Given the description of an element on the screen output the (x, y) to click on. 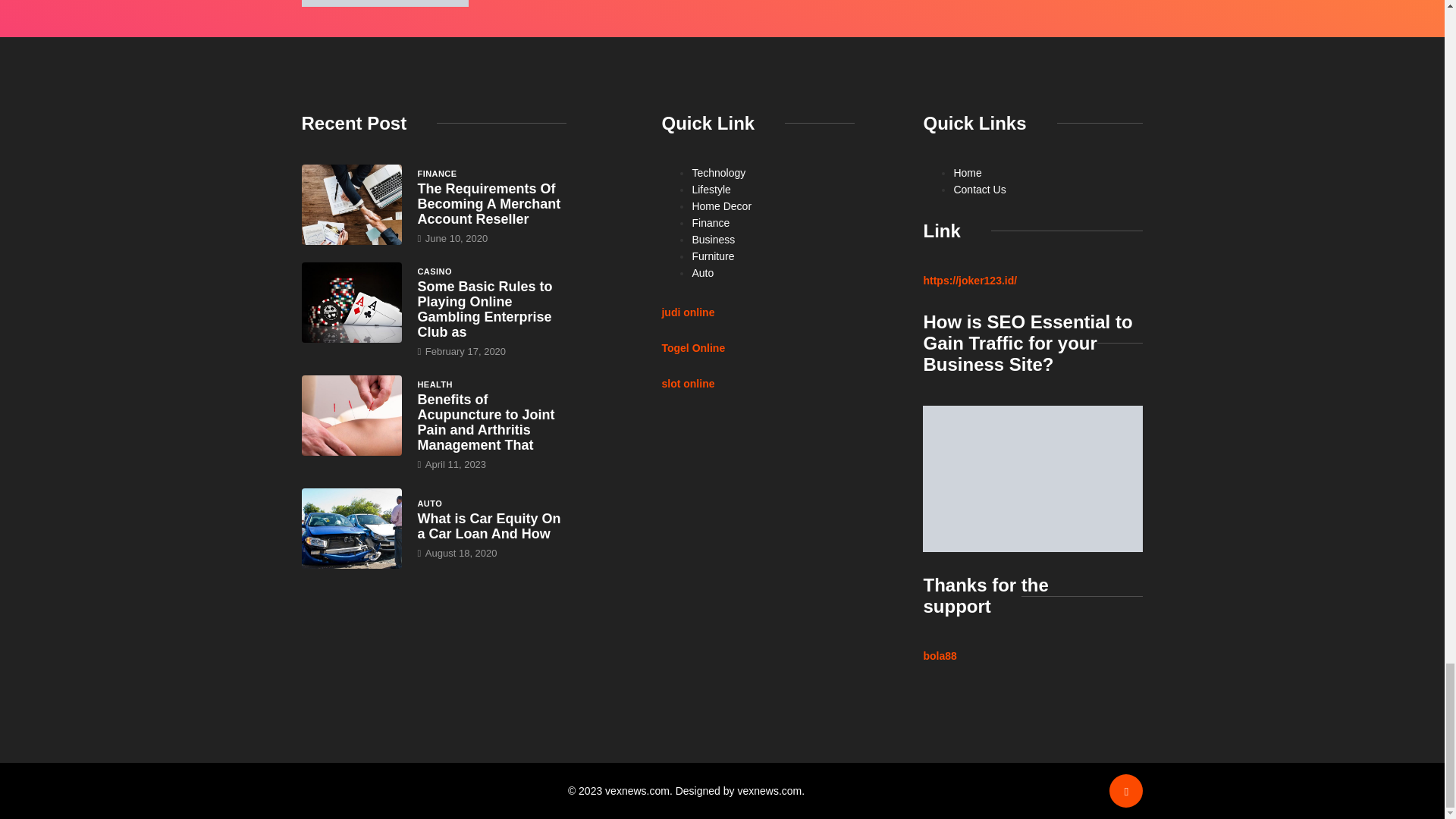
The Requirements Of Becoming A Merchant Account Reseller (352, 204)
What is Car Equity On a Car Loan And How Can You Use It? (488, 526)
What is Car Equity On a Car Loan And How Can You Use It? (352, 528)
The Requirements Of Becoming A Merchant Account Reseller (488, 203)
